Given the description of an element on the screen output the (x, y) to click on. 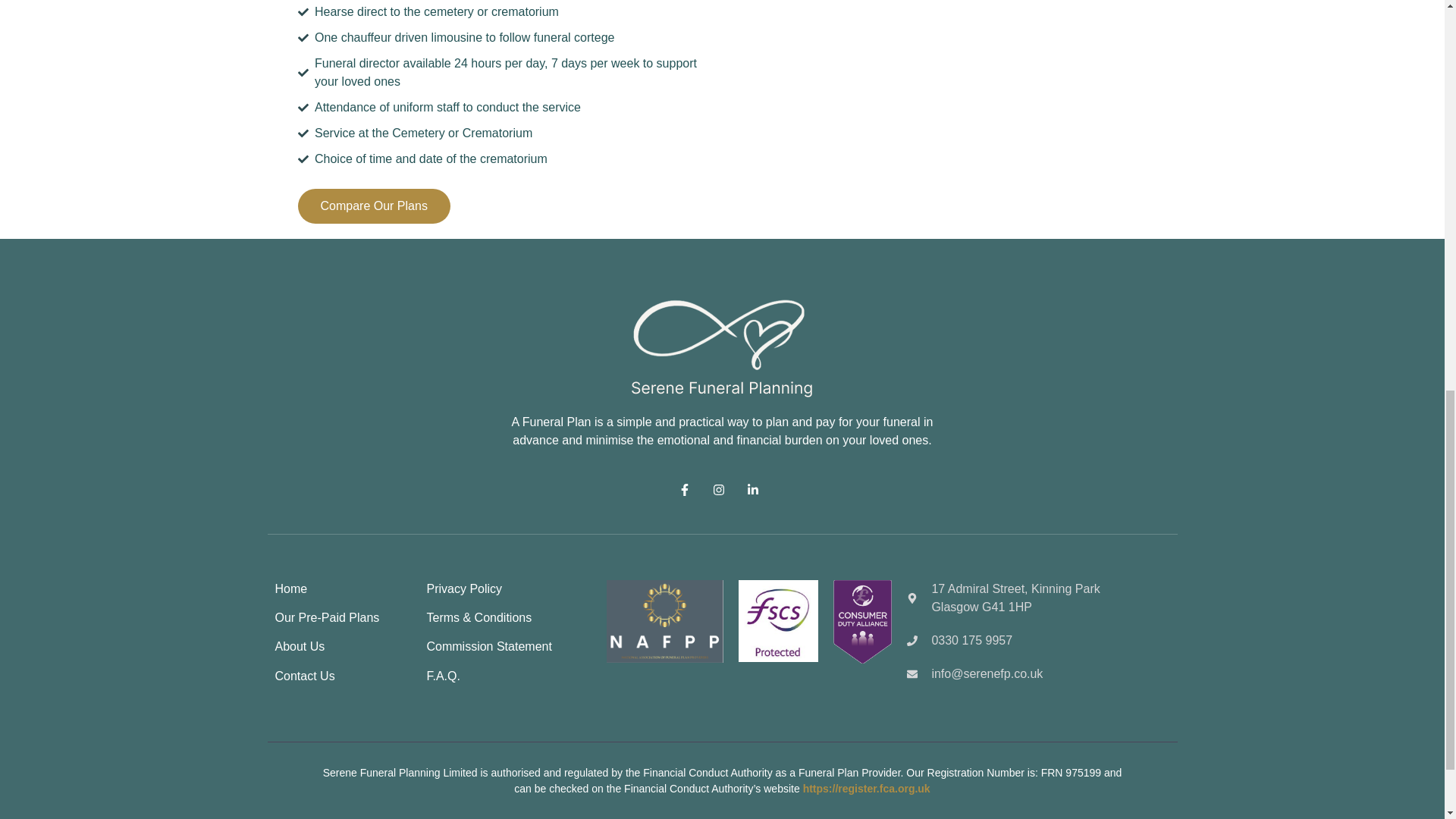
About Us (299, 645)
Privacy Policy (464, 588)
Commission Statement (488, 645)
Compare Our Plans (373, 206)
F.A.Q. (443, 675)
Our Pre-Paid Plans (326, 617)
Home (291, 588)
Contact Us (304, 675)
